Given the description of an element on the screen output the (x, y) to click on. 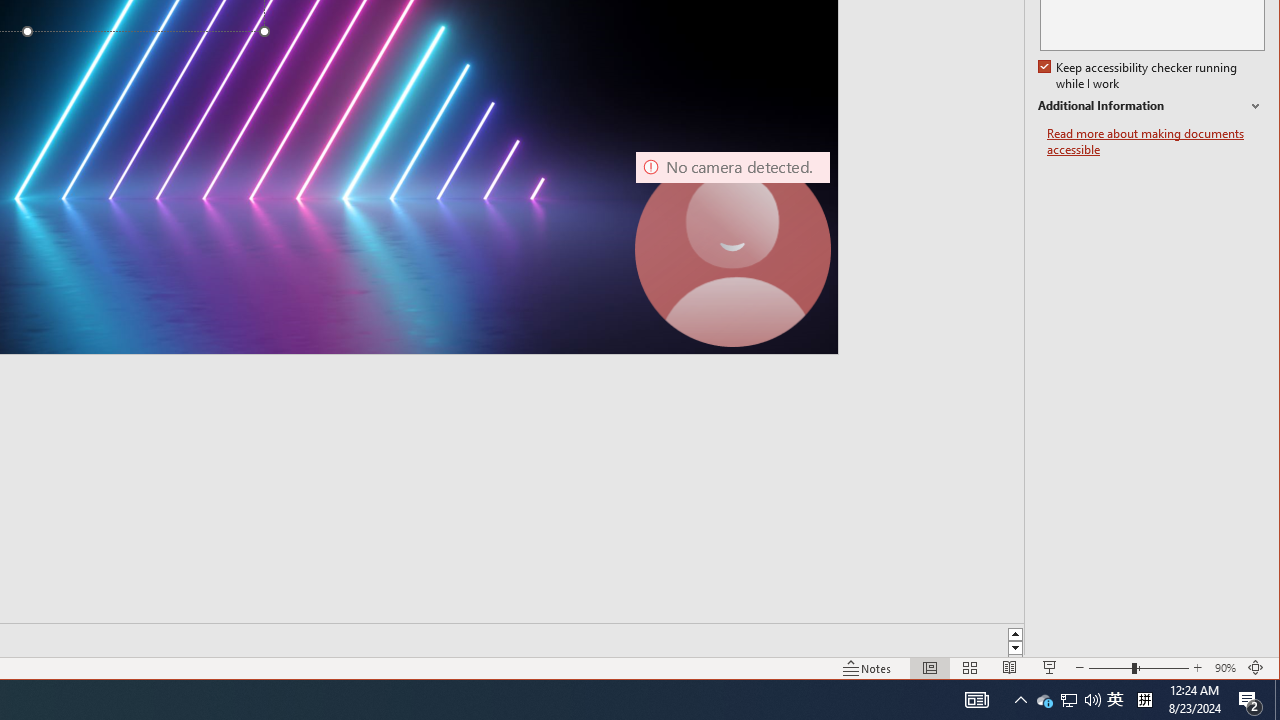
Read more about making documents accessible (1155, 142)
Additional Information (1151, 106)
Keep accessibility checker running while I work (1044, 699)
